Given the description of an element on the screen output the (x, y) to click on. 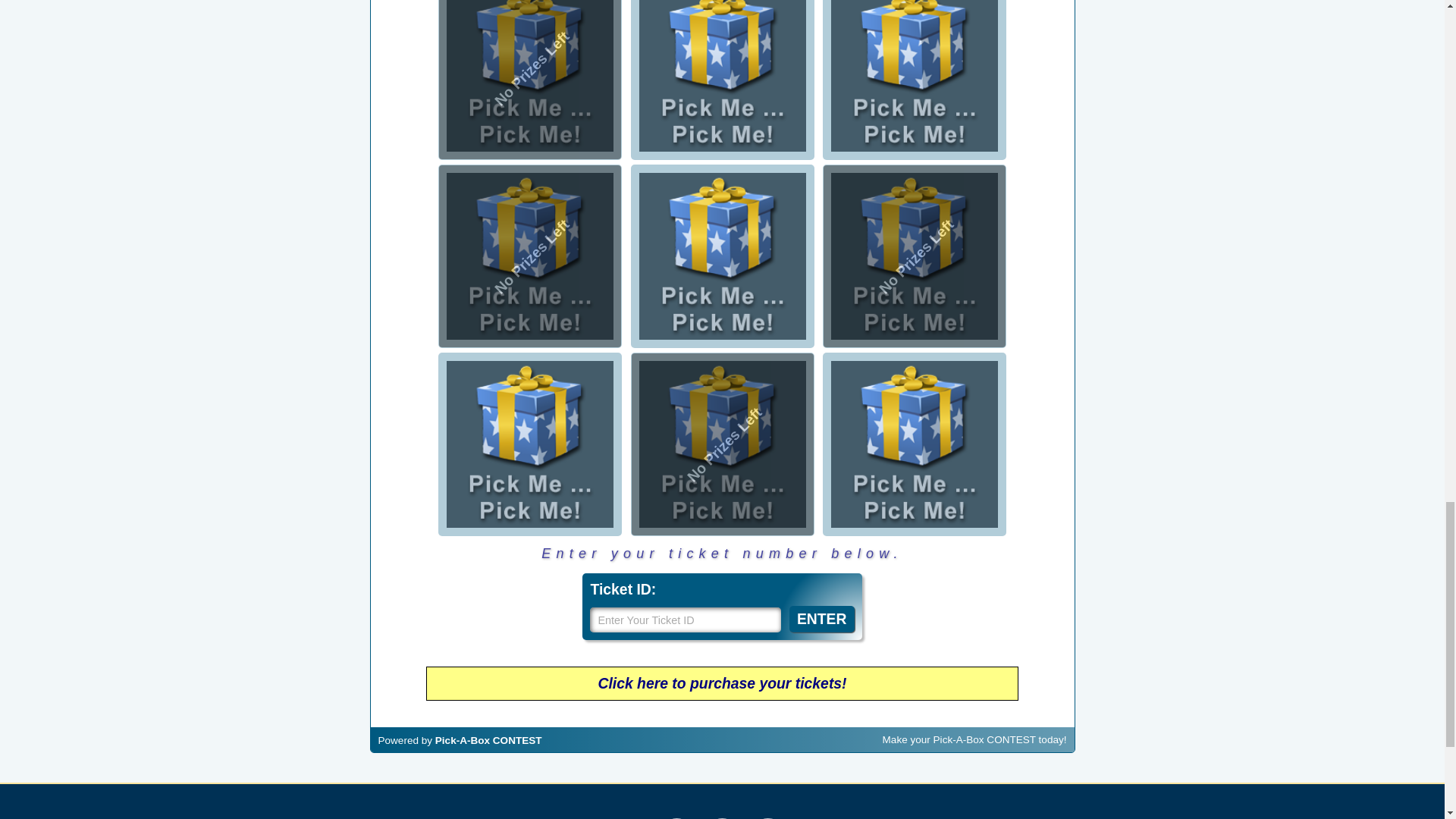
Click here to purchase your tickets! (720, 682)
Make your Pick-A-Box CONTEST today! (974, 739)
Enter your ticket number below. (721, 553)
